Given the description of an element on the screen output the (x, y) to click on. 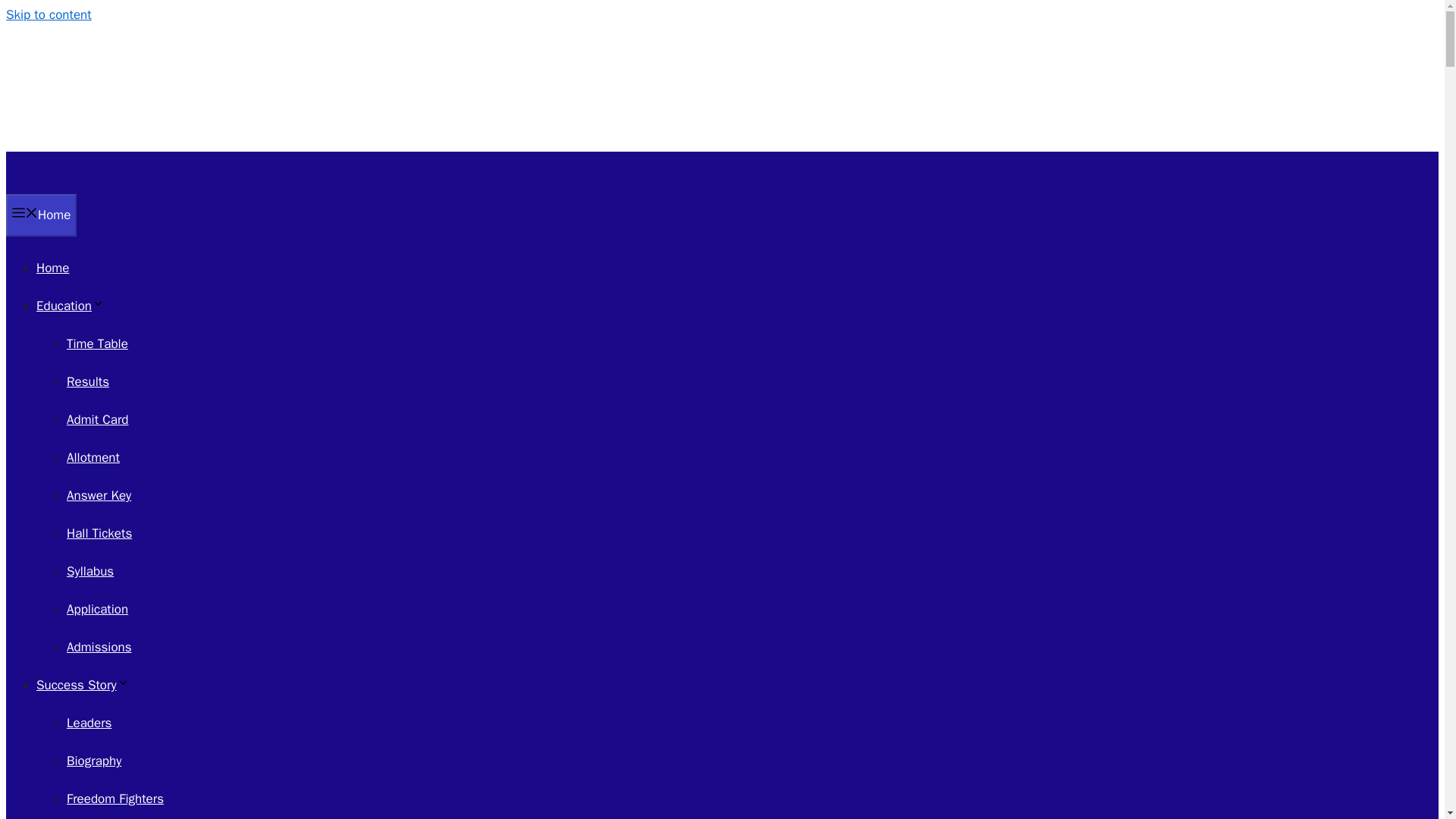
Admit Card (97, 419)
Answer Key (98, 495)
Skip to content (48, 14)
Syllabus (89, 571)
Allotment (92, 457)
Hall Tickets (99, 533)
Time Table (97, 343)
Success Story (82, 684)
Skip to content (48, 14)
Results (87, 381)
